Given the description of an element on the screen output the (x, y) to click on. 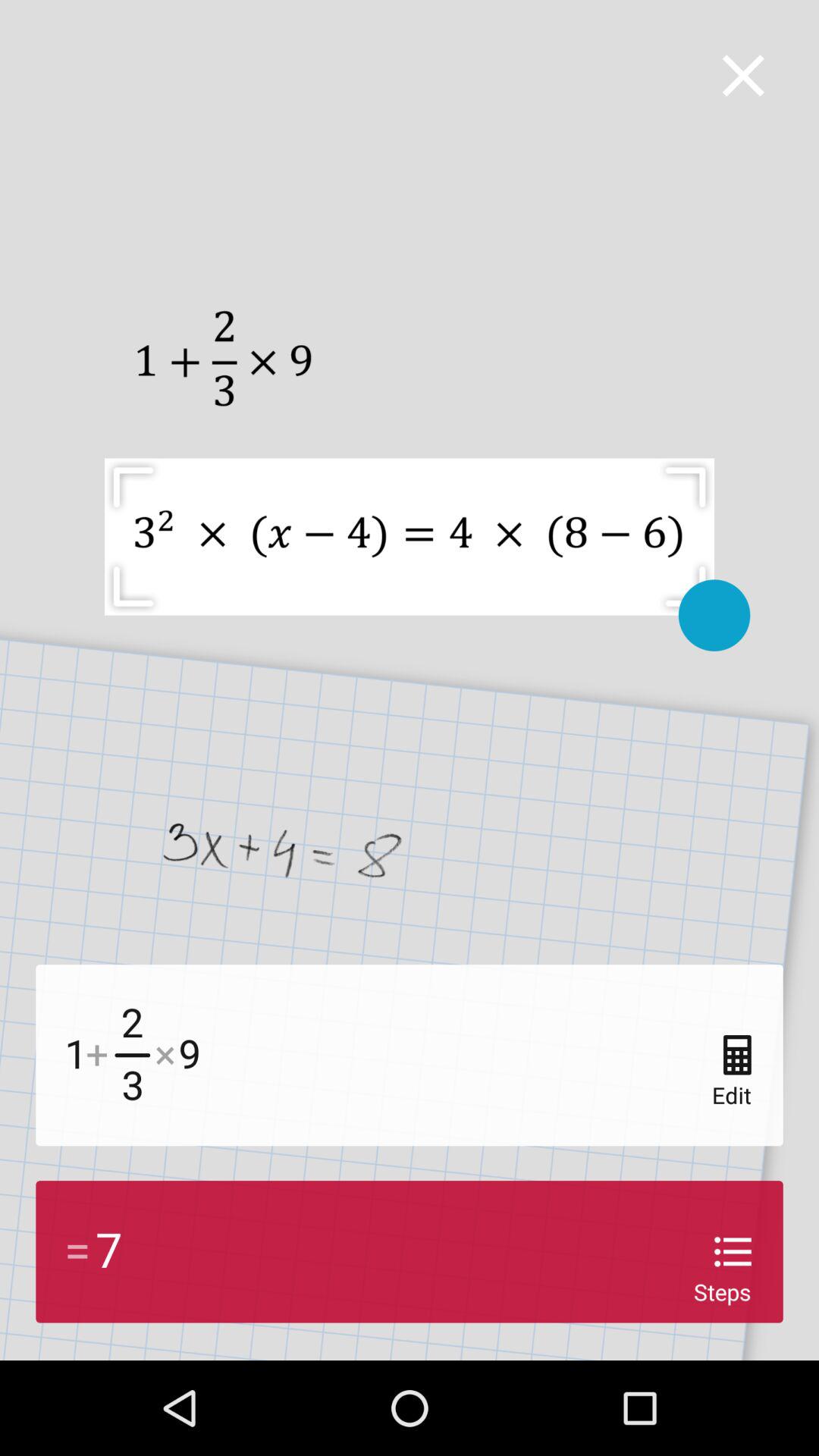
close (743, 75)
